Given the description of an element on the screen output the (x, y) to click on. 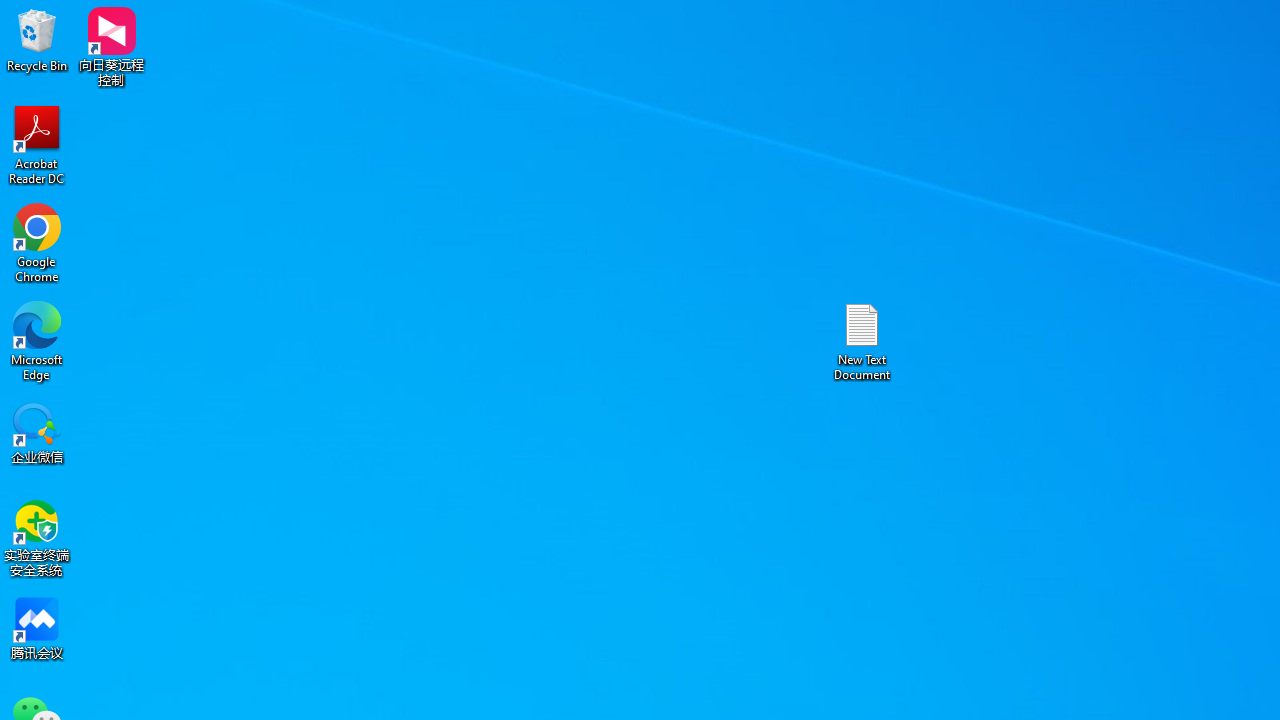
Action (772, 102)
Header & Footer... (952, 102)
Comment (839, 102)
WordArt (1004, 102)
